Given the description of an element on the screen output the (x, y) to click on. 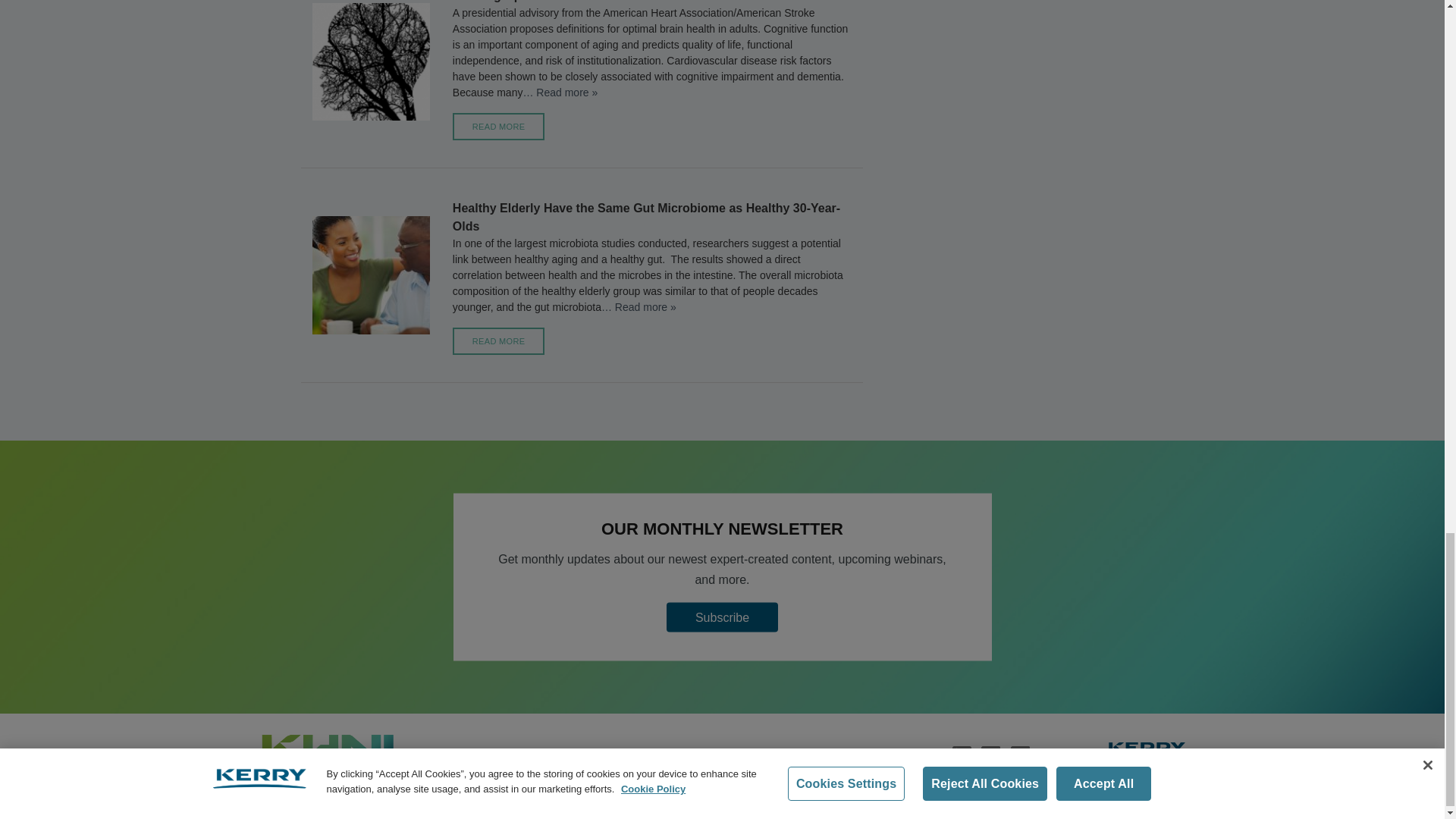
ReadDefining Optimal Brain Health in Adults (559, 92)
